Given the description of an element on the screen output the (x, y) to click on. 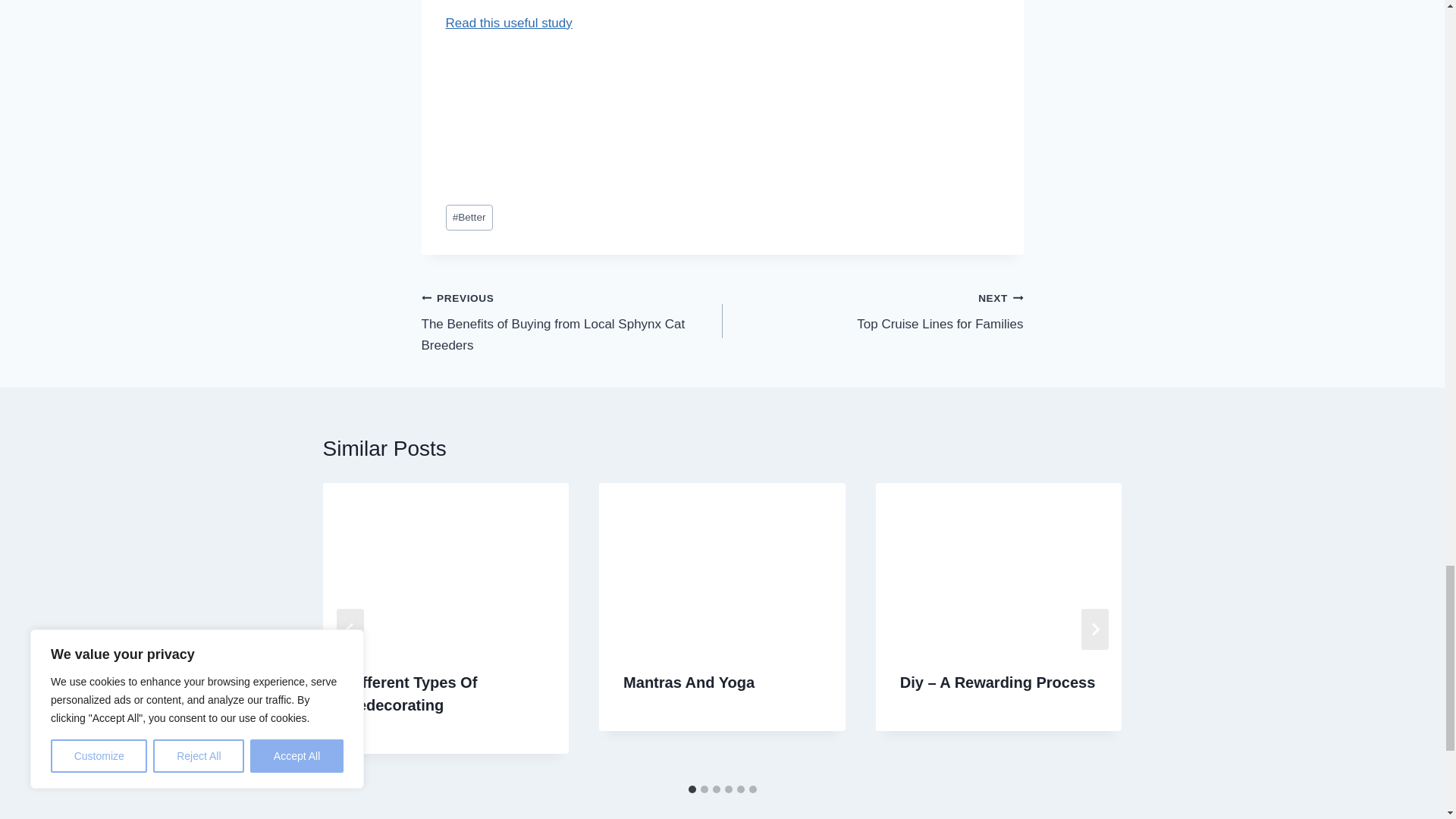
Better (469, 217)
Read this useful study (872, 310)
